Given the description of an element on the screen output the (x, y) to click on. 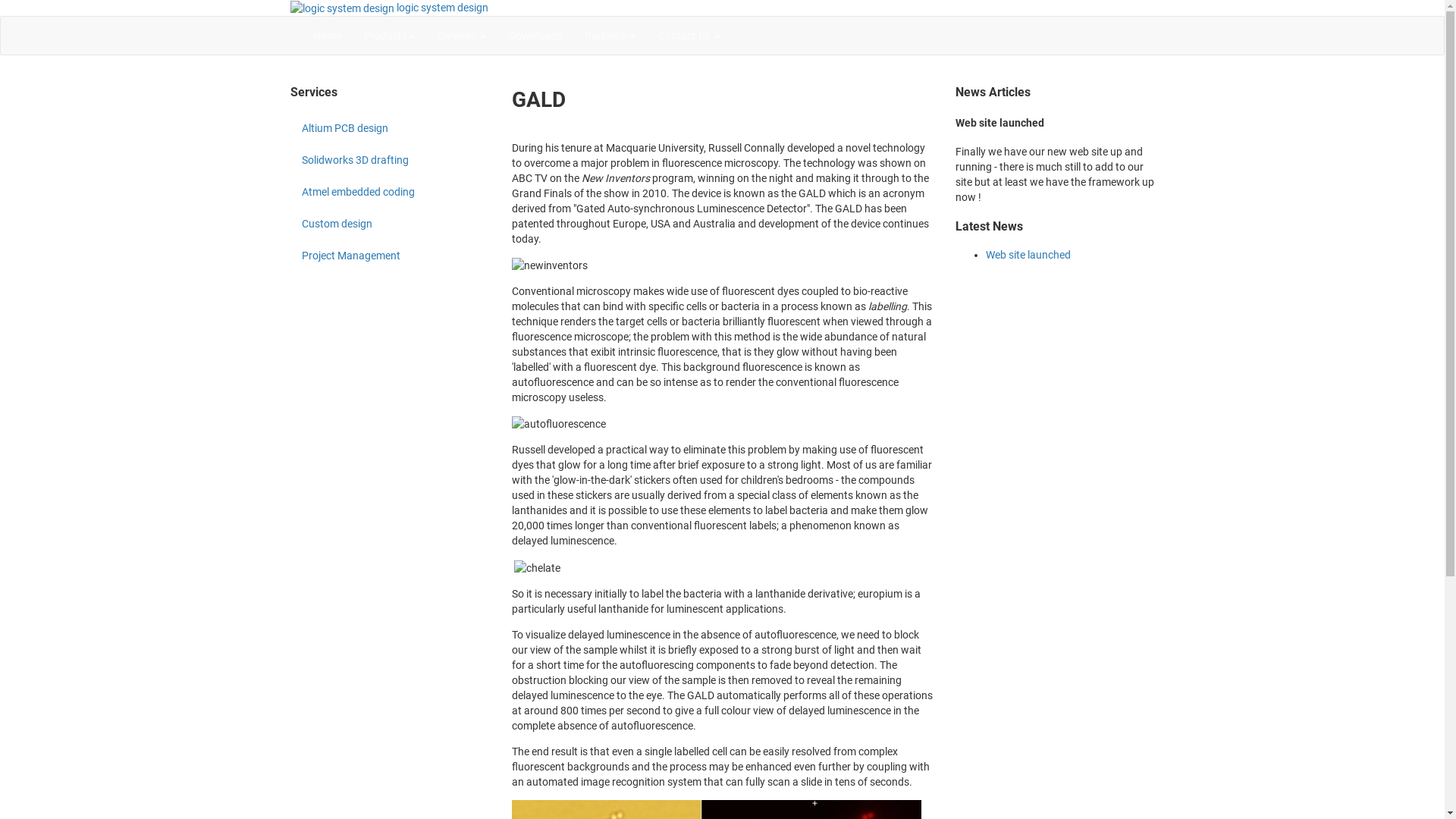
Project Management Element type: text (389, 255)
Home Element type: text (326, 35)
logic system design Element type: text (388, 7)
Atmel embedded coding Element type: text (389, 191)
Contact Us Element type: text (688, 35)
Web site launched Element type: text (1027, 254)
Altium PCB design Element type: text (389, 127)
Partners Element type: text (609, 35)
Custom design Element type: text (389, 223)
Downloads Element type: text (535, 35)
Solidworks 3D drafting Element type: text (389, 159)
Products Element type: text (388, 35)
Services Element type: text (461, 35)
